Given the description of an element on the screen output the (x, y) to click on. 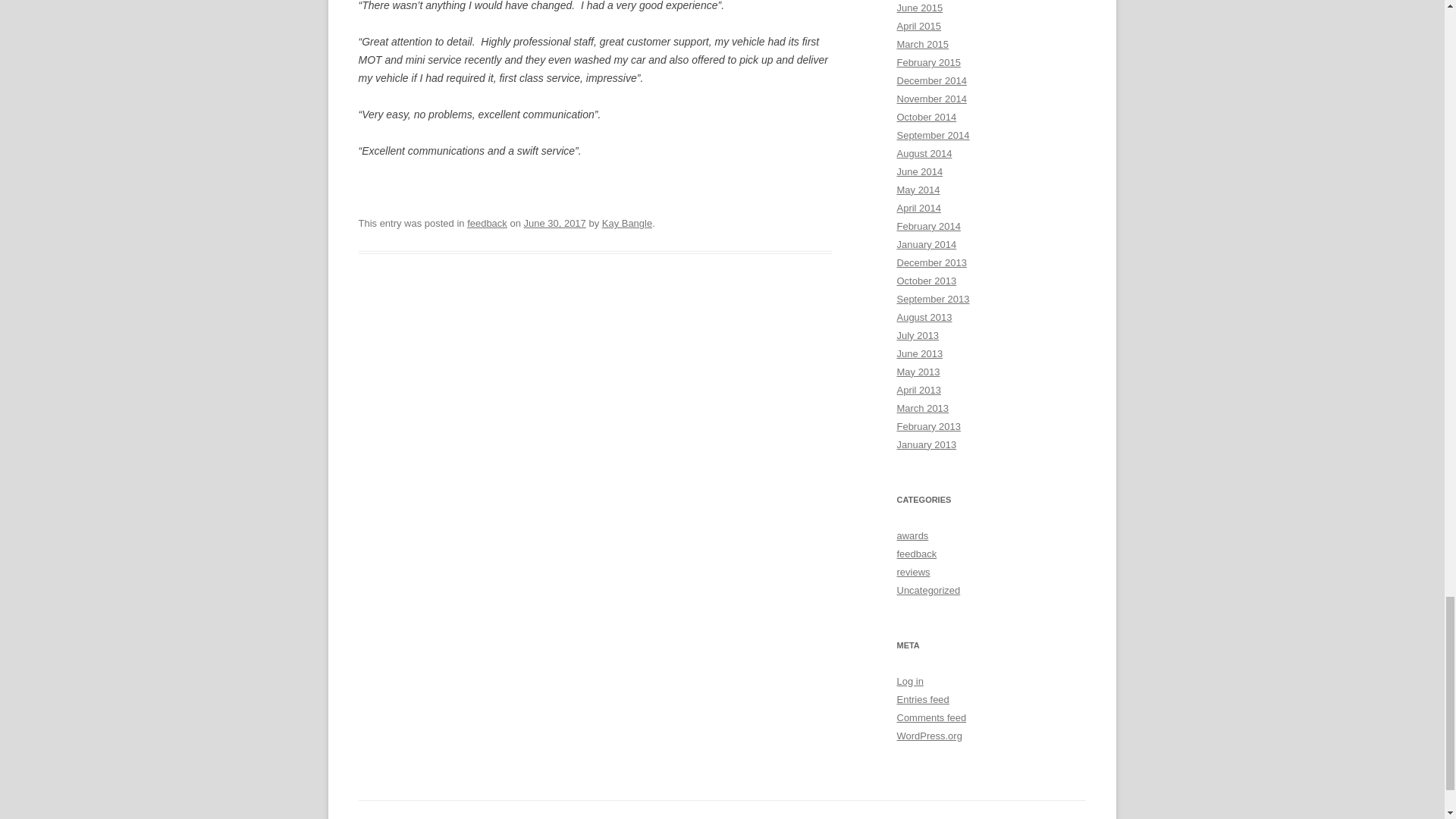
Kay Bangle (627, 223)
June 30, 2017 (553, 223)
View all posts by Kay Bangle (627, 223)
9:48 am (553, 223)
feedback (486, 223)
